Given the description of an element on the screen output the (x, y) to click on. 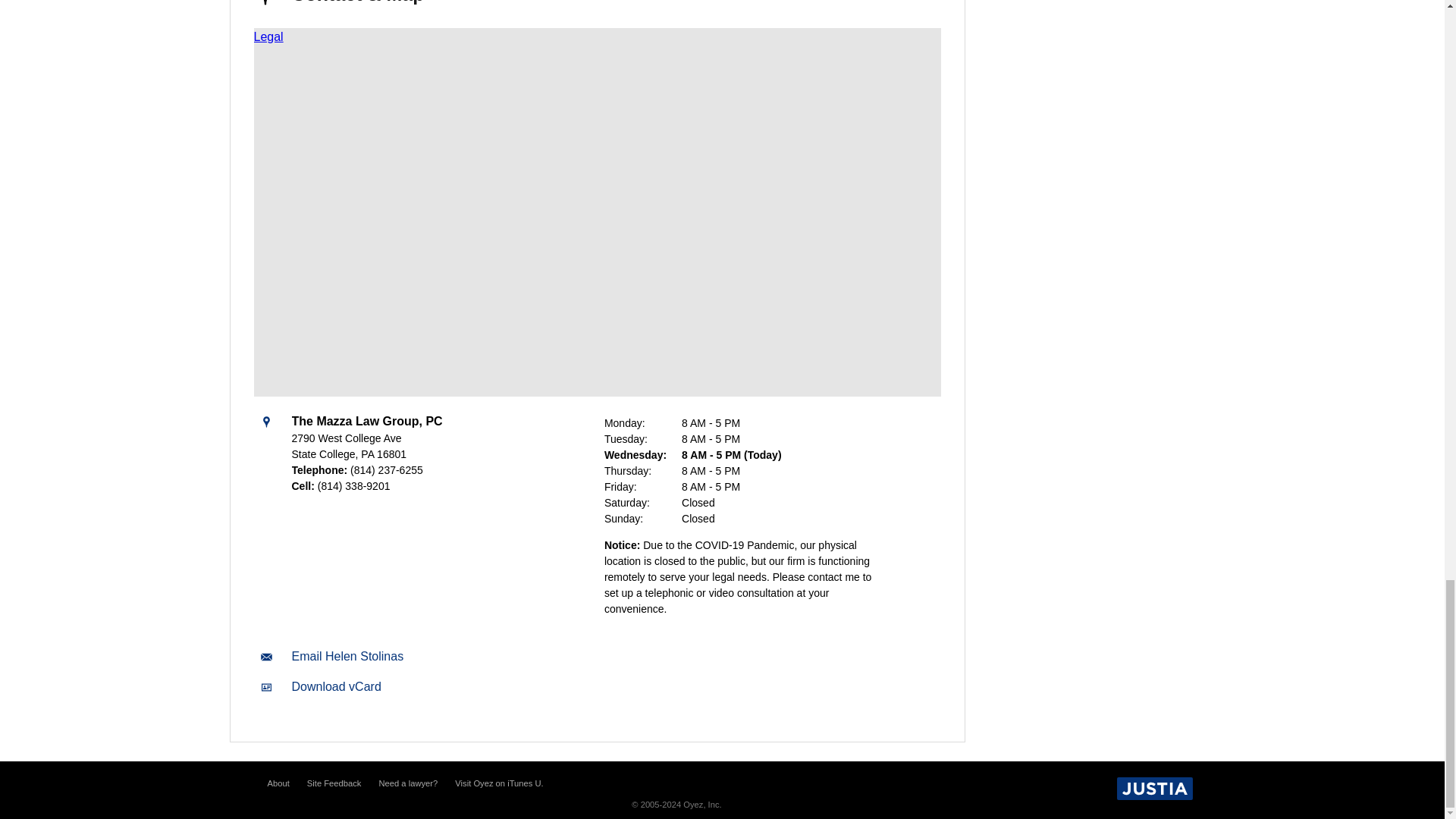
Download vCard (335, 686)
Email Helen Stolinas (347, 656)
